Given the description of an element on the screen output the (x, y) to click on. 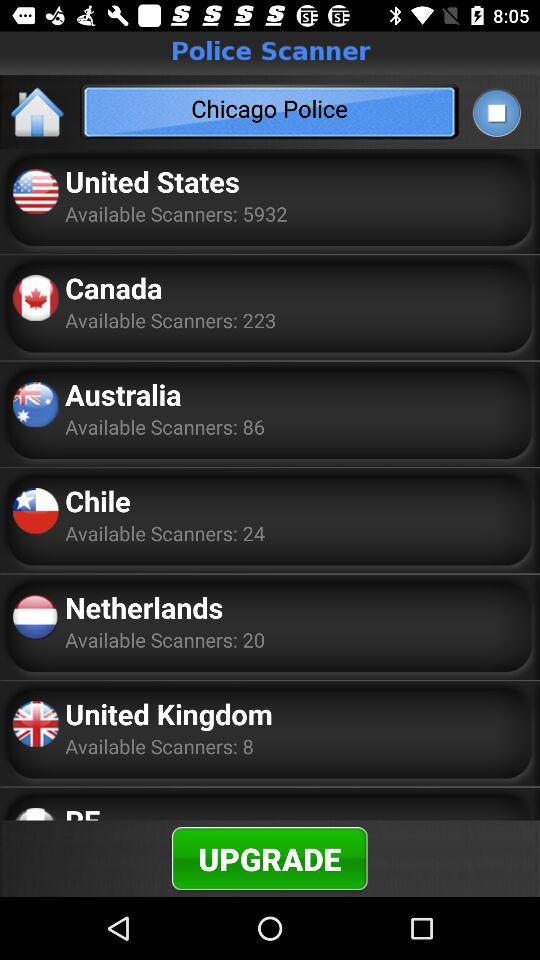
jump to chile icon (97, 500)
